Given the description of an element on the screen output the (x, y) to click on. 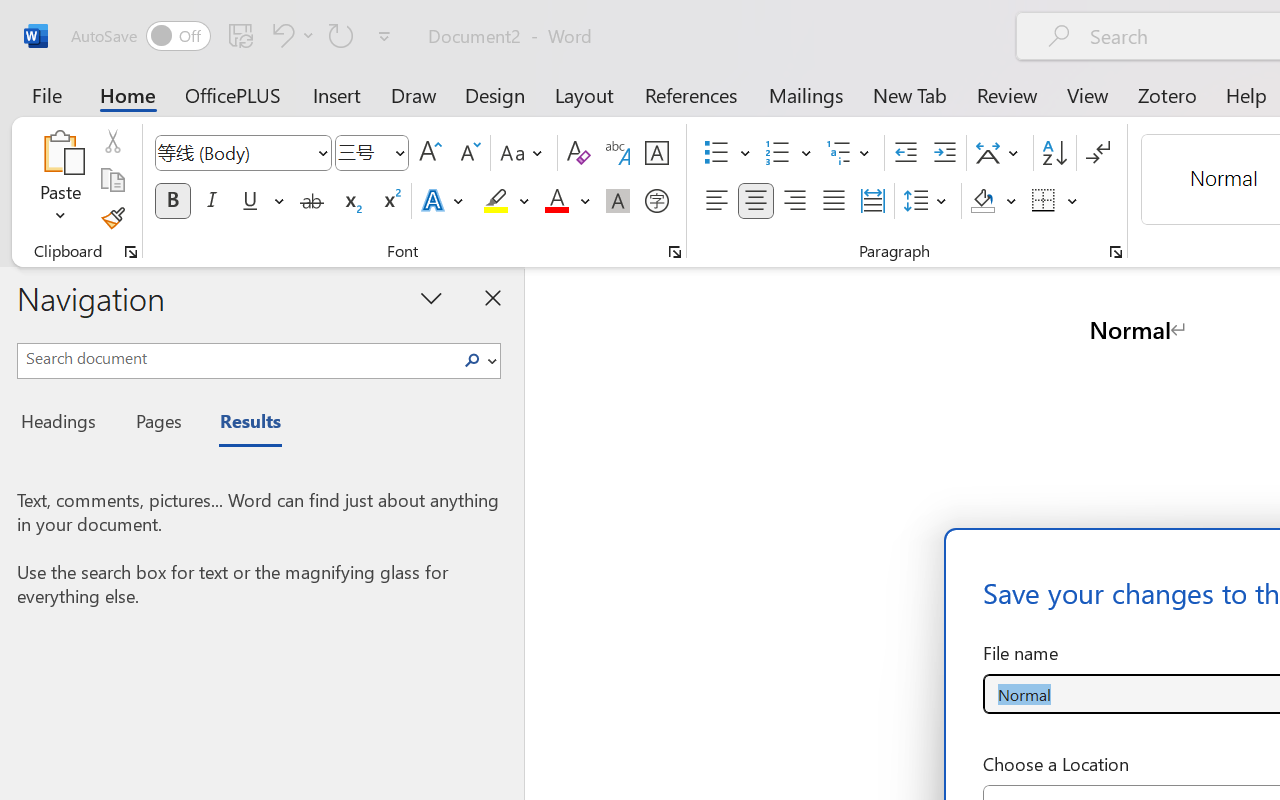
Layout (584, 94)
Bullets (727, 153)
Decrease Indent (906, 153)
Underline (261, 201)
Cut (112, 141)
Italic (212, 201)
Text Effects and Typography (444, 201)
Font... (675, 252)
New Tab (909, 94)
Bullets (716, 153)
Underline (250, 201)
Borders (1055, 201)
View (1087, 94)
Multilevel List (850, 153)
